Given the description of an element on the screen output the (x, y) to click on. 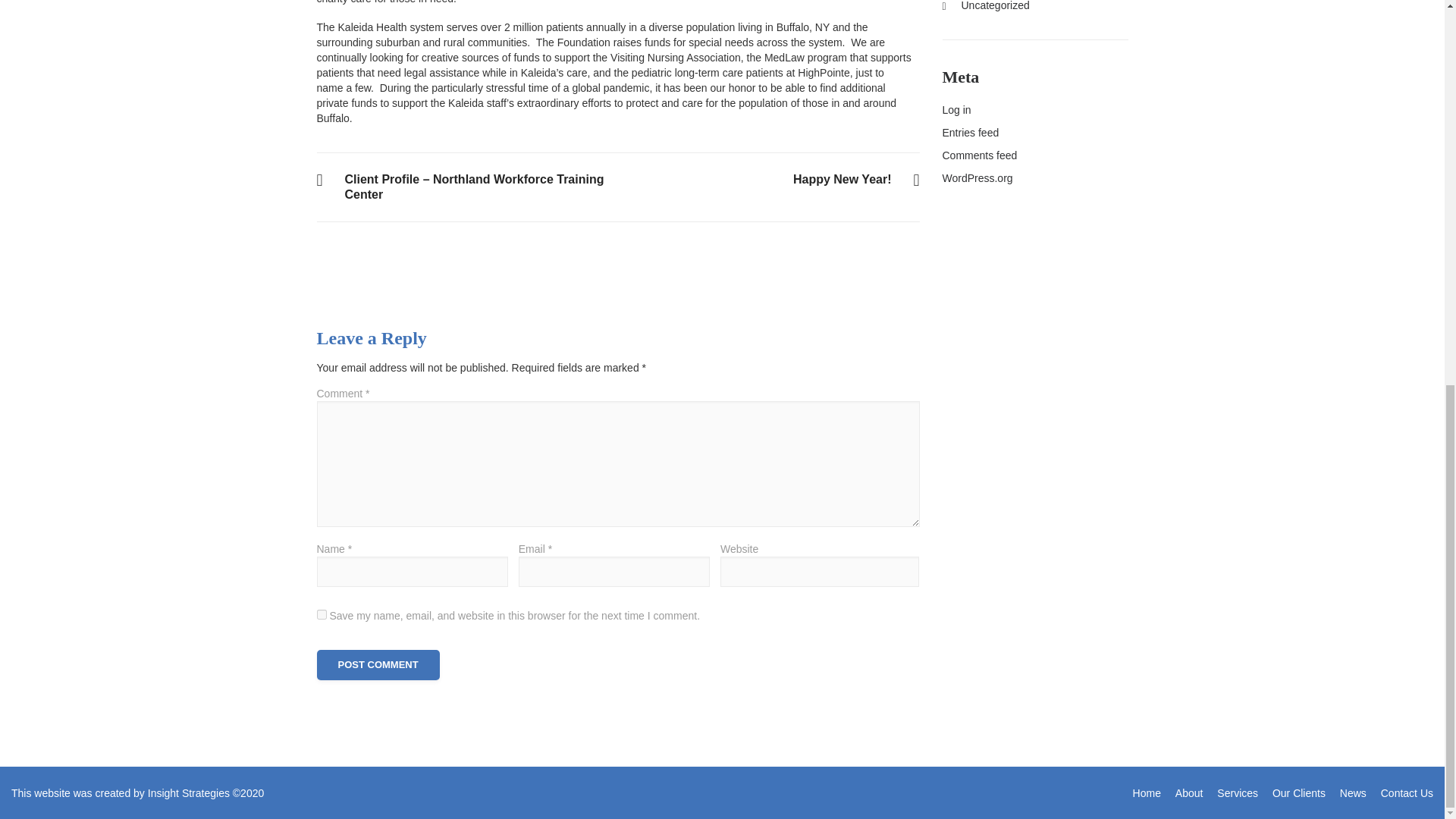
Services (1231, 793)
Our Clients (1292, 793)
Entries feed (856, 179)
WordPress.org (970, 132)
Post Comment (976, 177)
News (378, 665)
Comments feed (1347, 793)
yes (979, 155)
About (321, 614)
Contact Us (1183, 793)
Home (1401, 793)
Uncategorized (1146, 793)
Post Comment (985, 5)
Log in (378, 665)
